Given the description of an element on the screen output the (x, y) to click on. 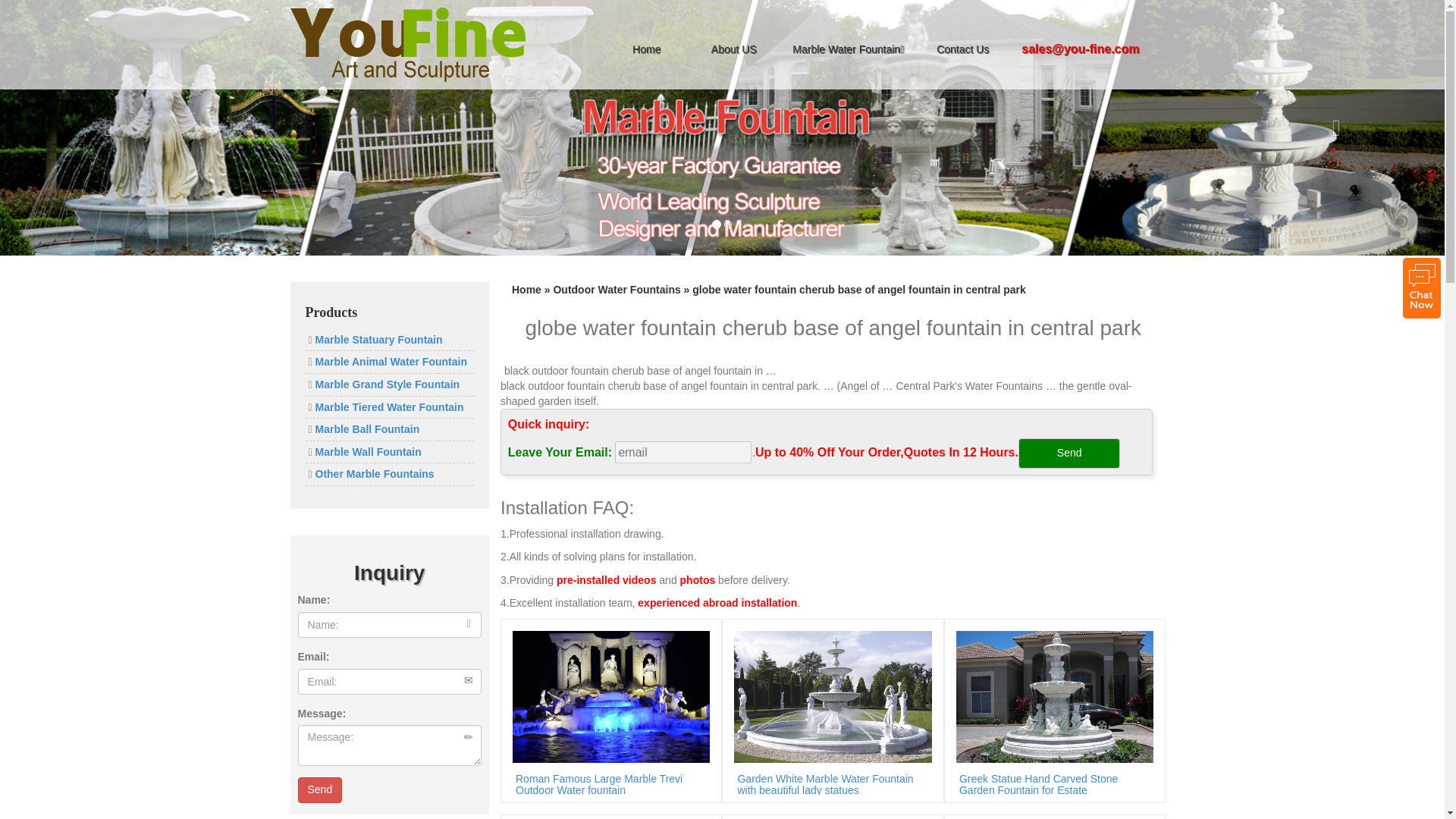
Marble Ball Fountain (366, 428)
Marble Tiered Water Fountain (388, 407)
Marble Grand Style Fountain (386, 384)
contact us (962, 49)
Marble Statuary Fountain (377, 339)
Marble Wall Fountain (367, 451)
Marble Animal Water Fountain (390, 361)
Marble Water Fountain (847, 49)
Marble Water Fountain (847, 49)
home (646, 49)
Other Marble Fountains (373, 473)
Marble Grand Style Fountain (386, 384)
about us (733, 49)
Contact Us (962, 49)
About US (733, 49)
